Given the description of an element on the screen output the (x, y) to click on. 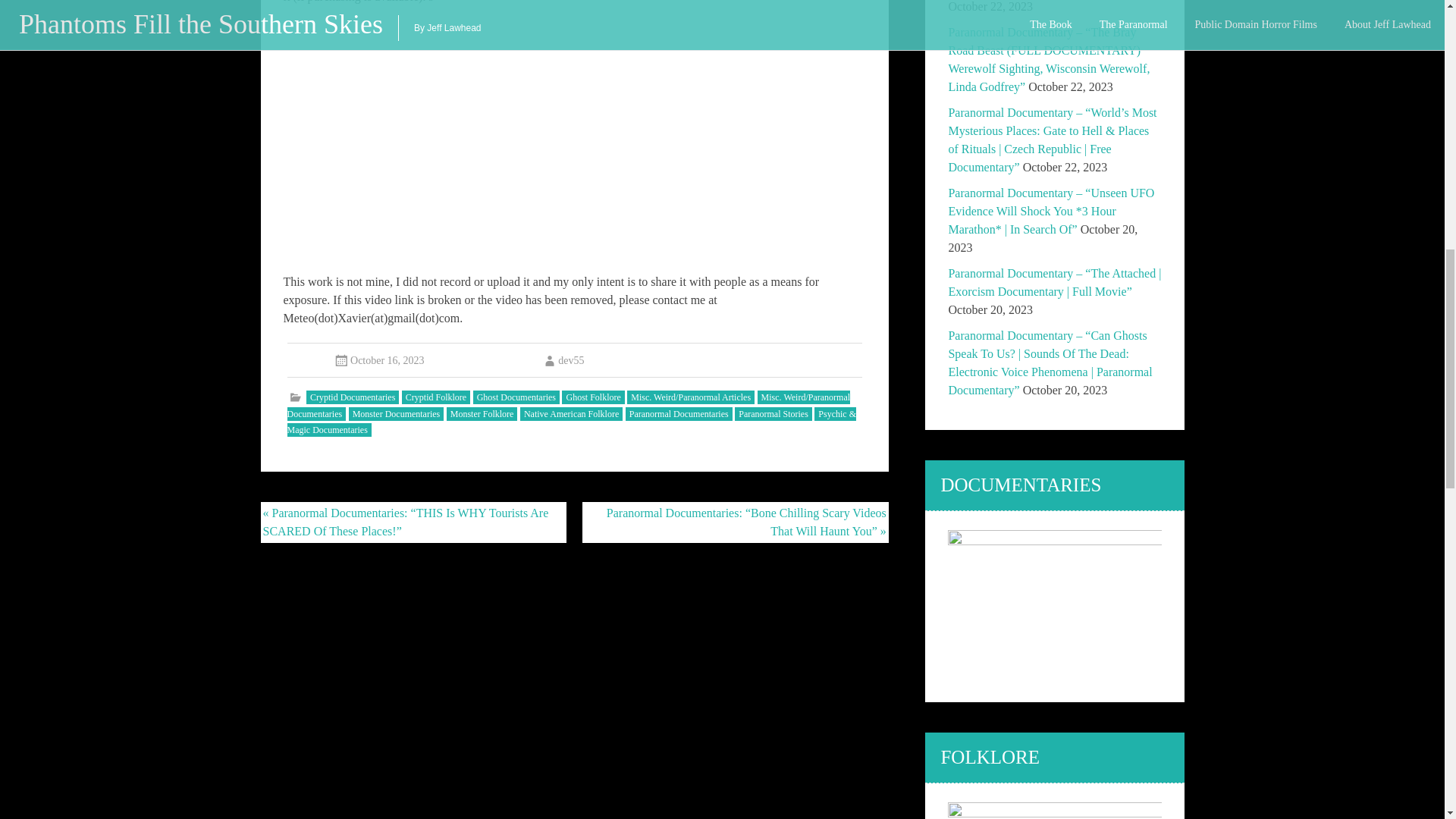
Ghost Documentaries (516, 397)
October 16, 2023 (387, 360)
dev55 (562, 360)
Cryptid Folklore (435, 397)
YouTube video player (574, 136)
Monster Folklore (482, 413)
Monster Documentaries (396, 413)
Ghost Folklore (593, 397)
Cryptid Documentaries (351, 397)
